Given the description of an element on the screen output the (x, y) to click on. 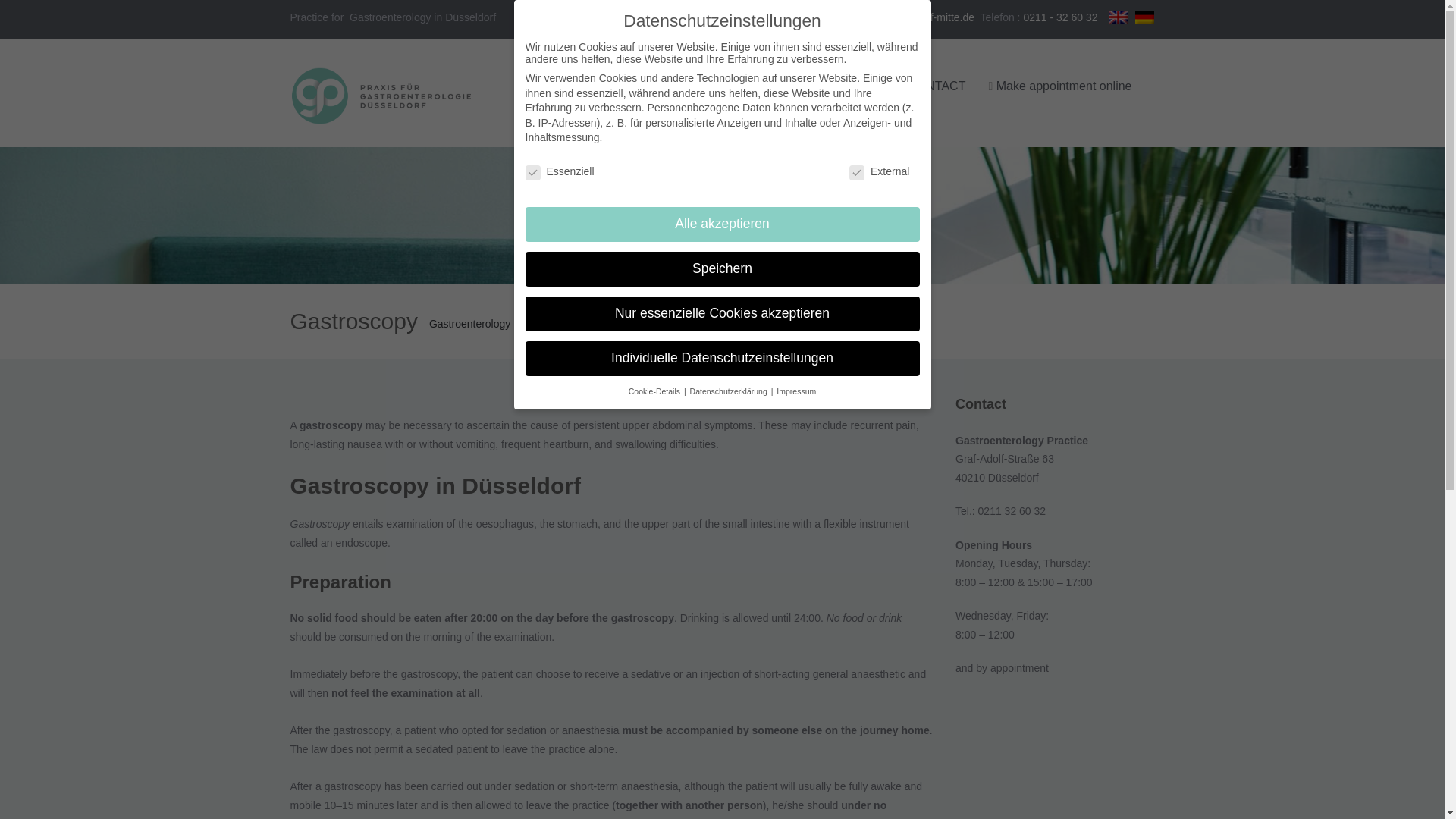
HOME (615, 86)
Alle akzeptieren (721, 224)
Cookie-Details (655, 390)
Individuelle Datenschutzeinstellungen (721, 358)
Impressum (795, 390)
Make appointment online (1059, 86)
German (1144, 15)
SERVICES (854, 86)
CONTACT (936, 86)
DOCTORS (770, 86)
PRACTICE (687, 86)
Speichern (721, 268)
Nur essenzielle Cookies akzeptieren (721, 313)
